Given the description of an element on the screen output the (x, y) to click on. 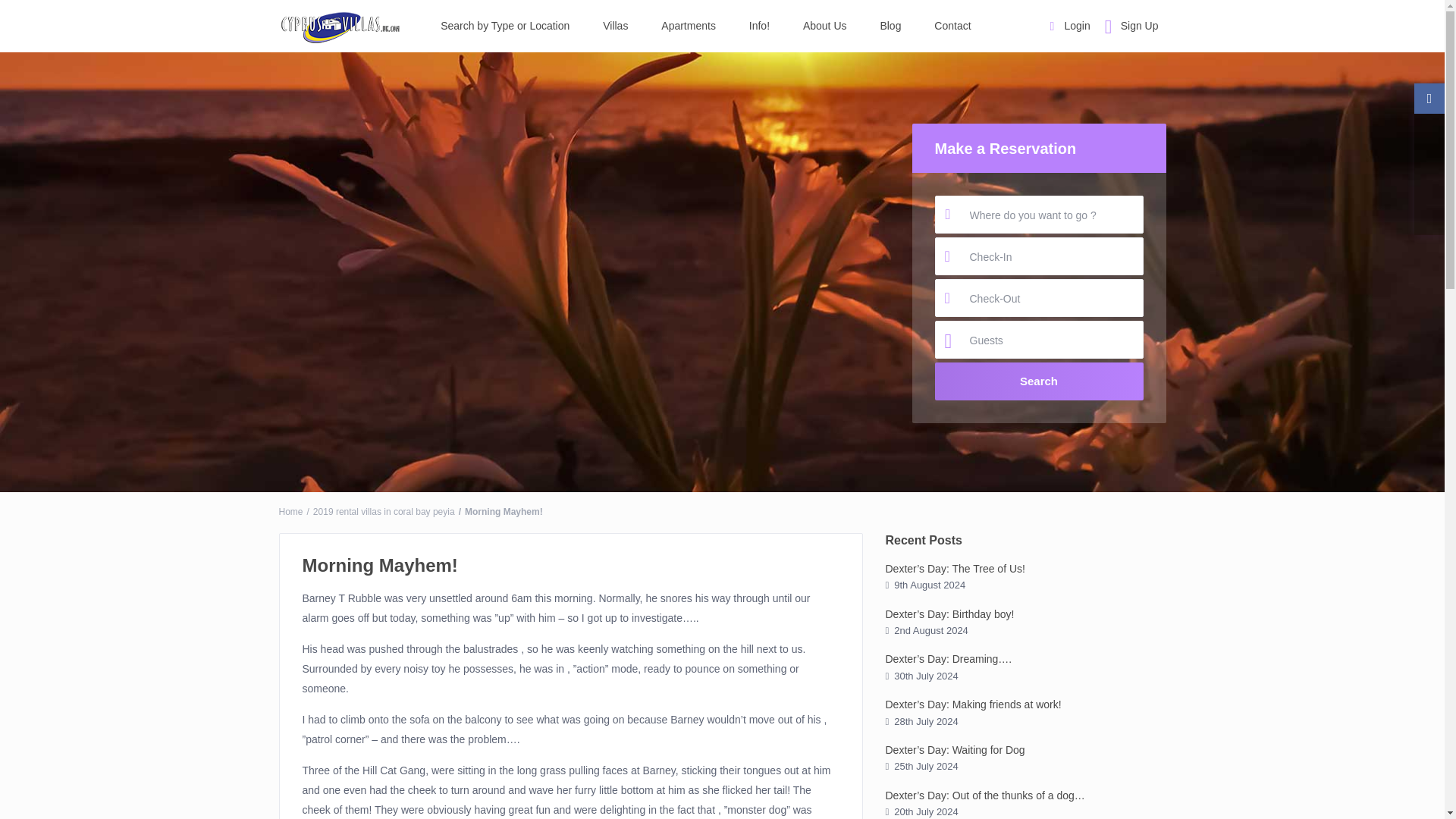
Search by Type or Location (505, 25)
Search (1038, 381)
Search (1038, 381)
